Given the description of an element on the screen output the (x, y) to click on. 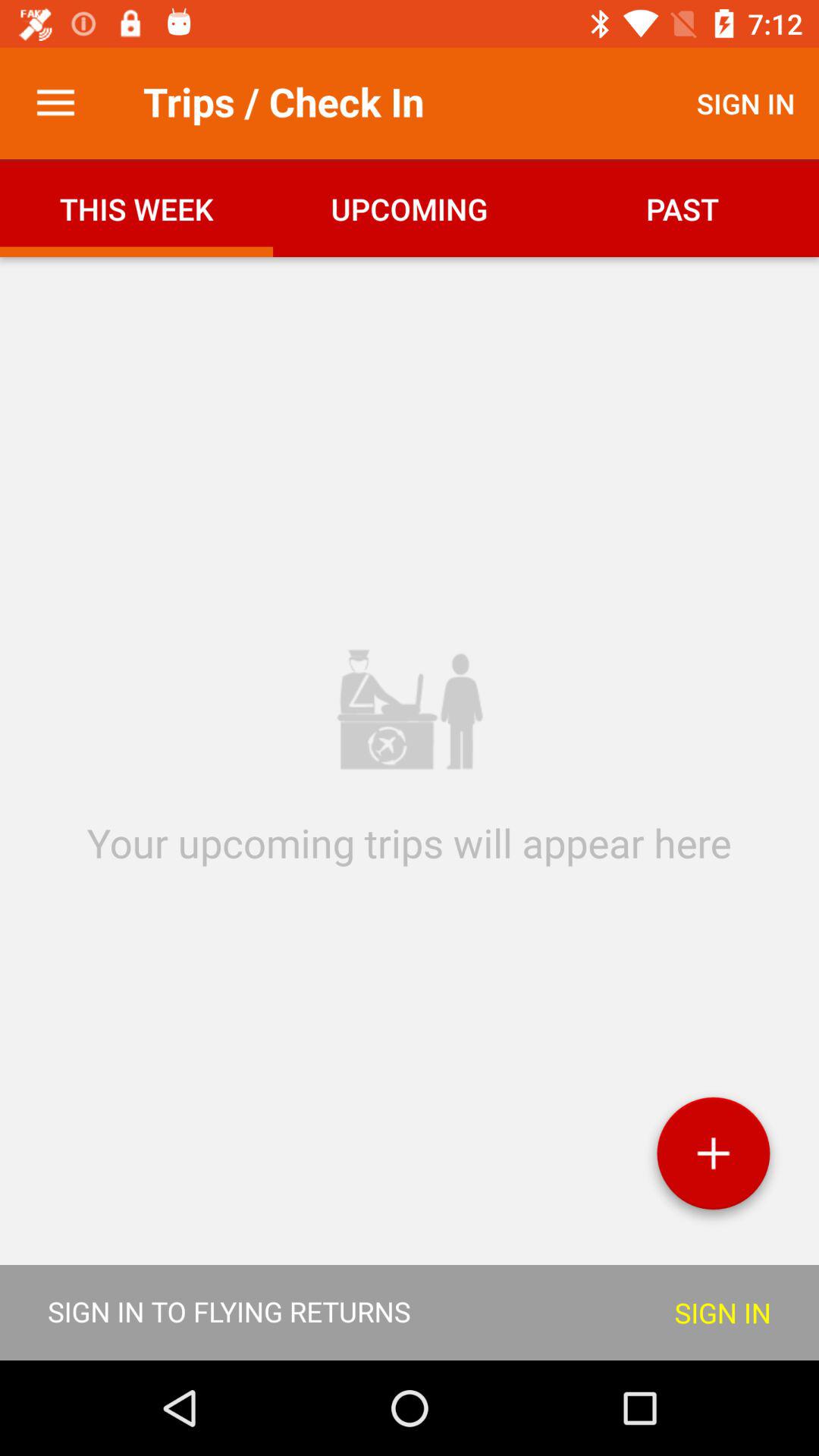
click the item to the left of trips / check in item (55, 103)
